Given the description of an element on the screen output the (x, y) to click on. 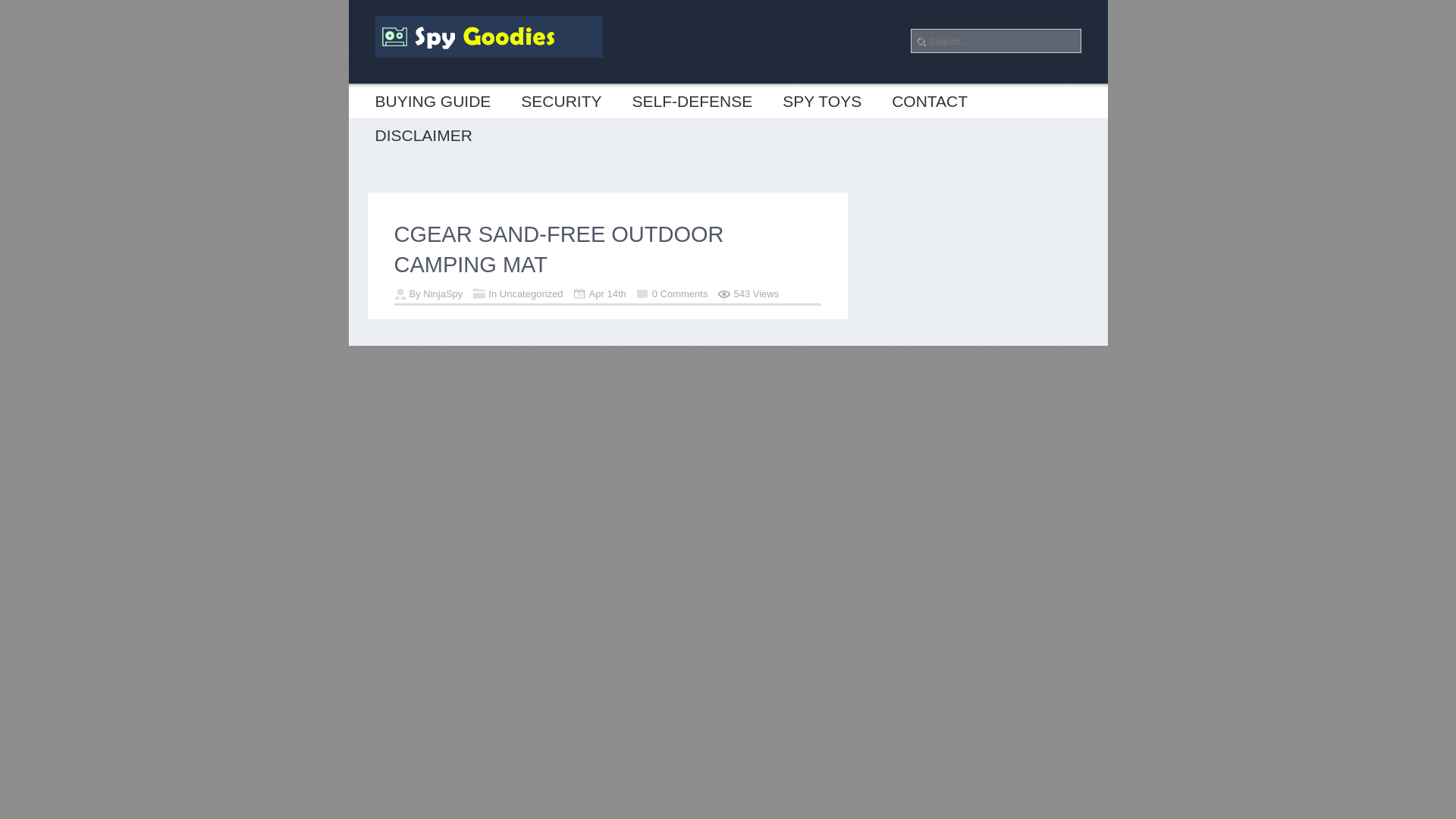
BUYING GUIDE (432, 100)
SECURITY (560, 100)
DISCLAIMER (422, 134)
